Given the description of an element on the screen output the (x, y) to click on. 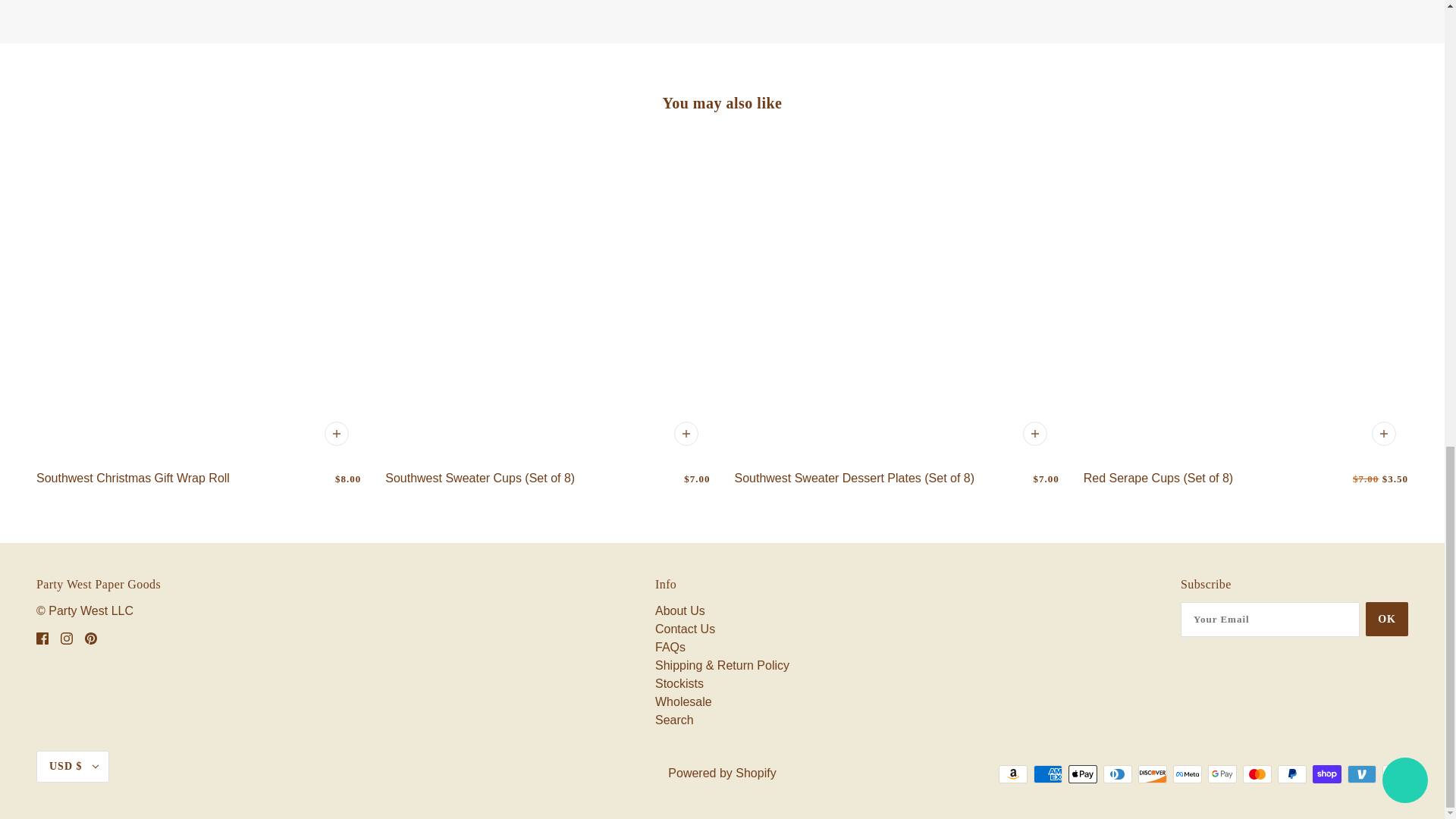
Contact Us (684, 628)
Stockists (679, 683)
Wholesale (683, 701)
About Us (679, 610)
Search (674, 719)
FAQs (670, 646)
